Given the description of an element on the screen output the (x, y) to click on. 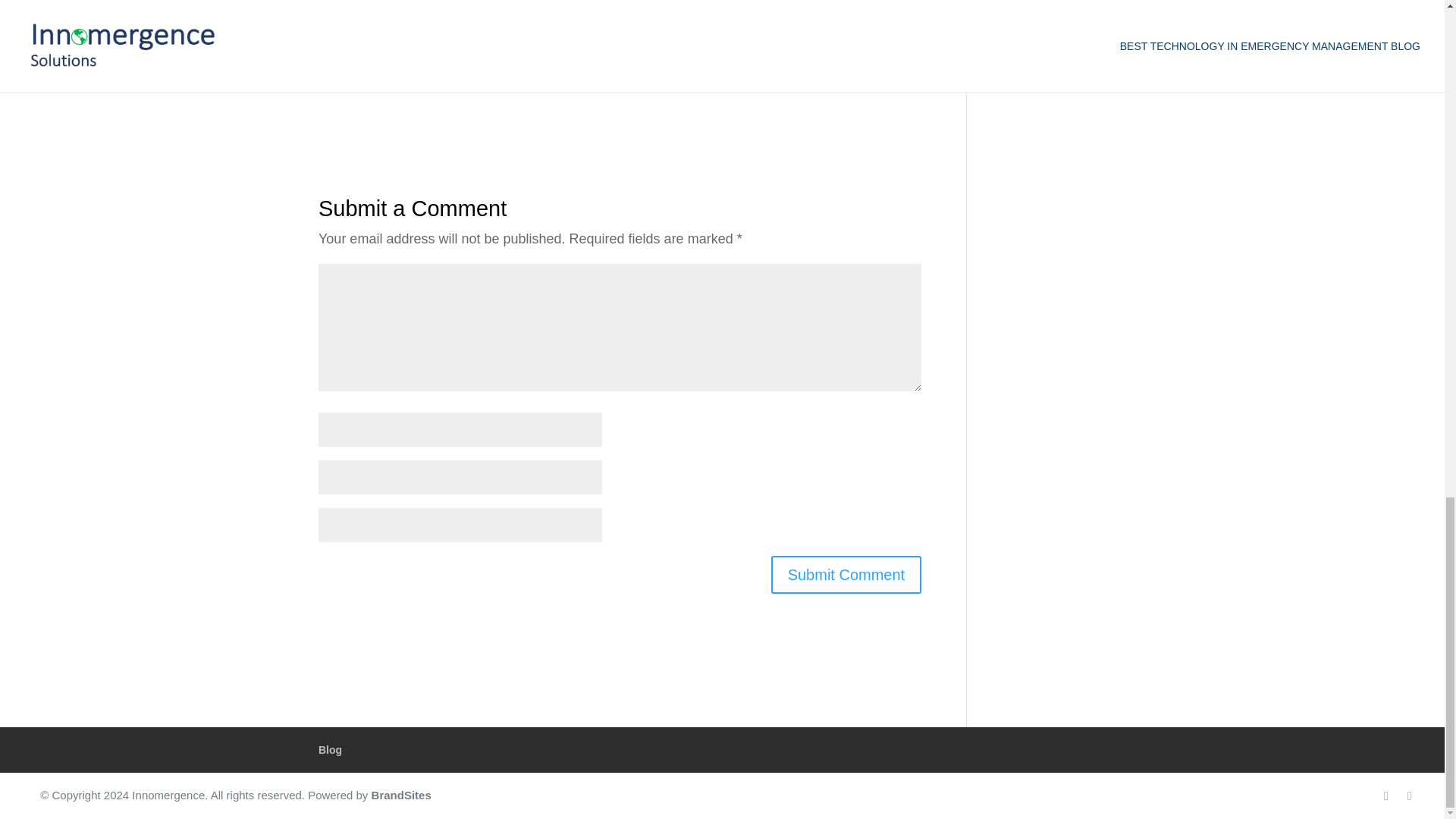
Submit Comment (846, 574)
BrandSites (400, 794)
Submit Comment (846, 574)
Blog (330, 749)
